Given the description of an element on the screen output the (x, y) to click on. 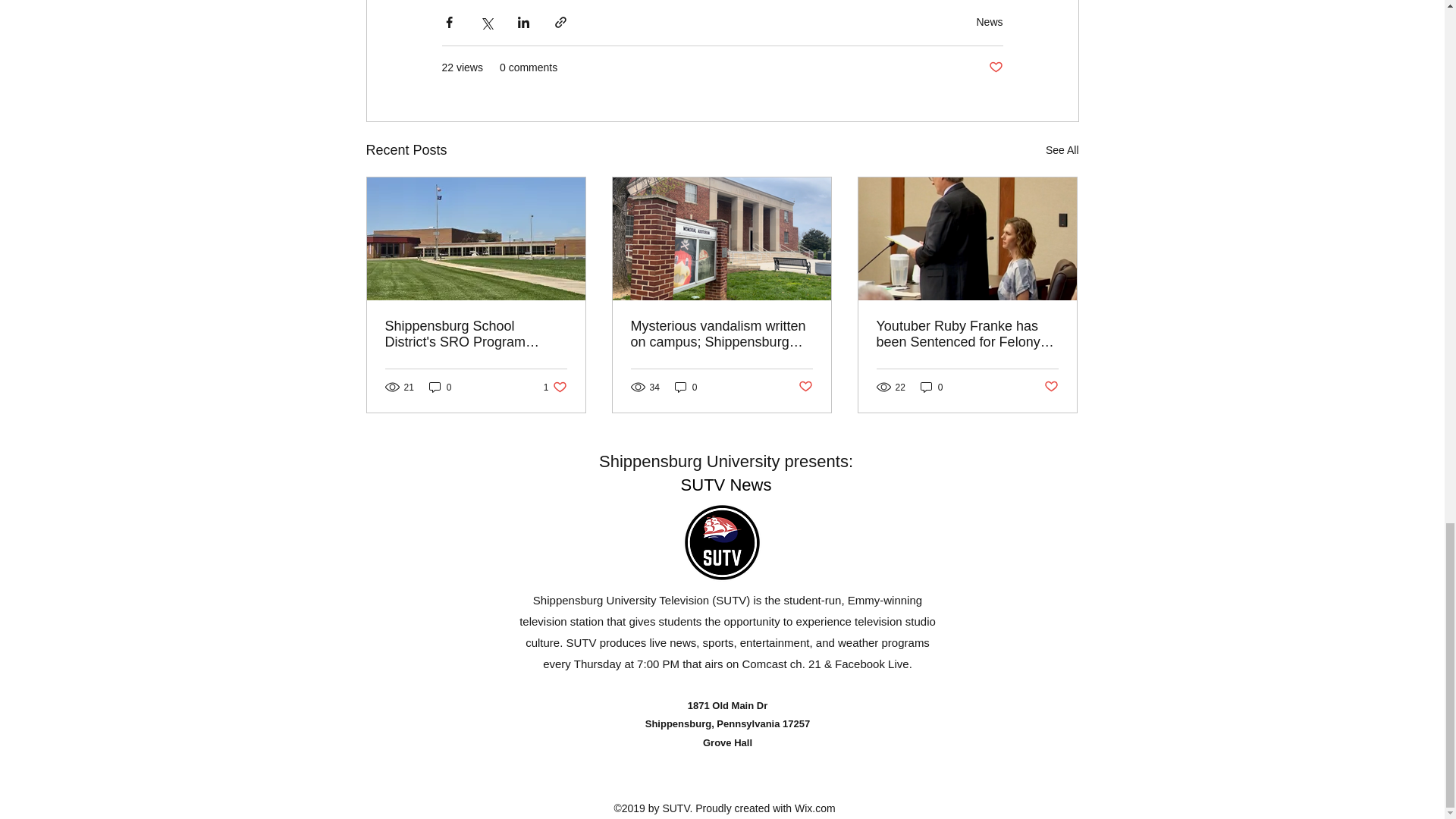
0 (685, 386)
0 (931, 386)
Post not marked as liked (555, 386)
See All (804, 386)
0 (1061, 150)
Post not marked as liked (440, 386)
News (1050, 386)
Post not marked as liked (989, 21)
